Given the description of an element on the screen output the (x, y) to click on. 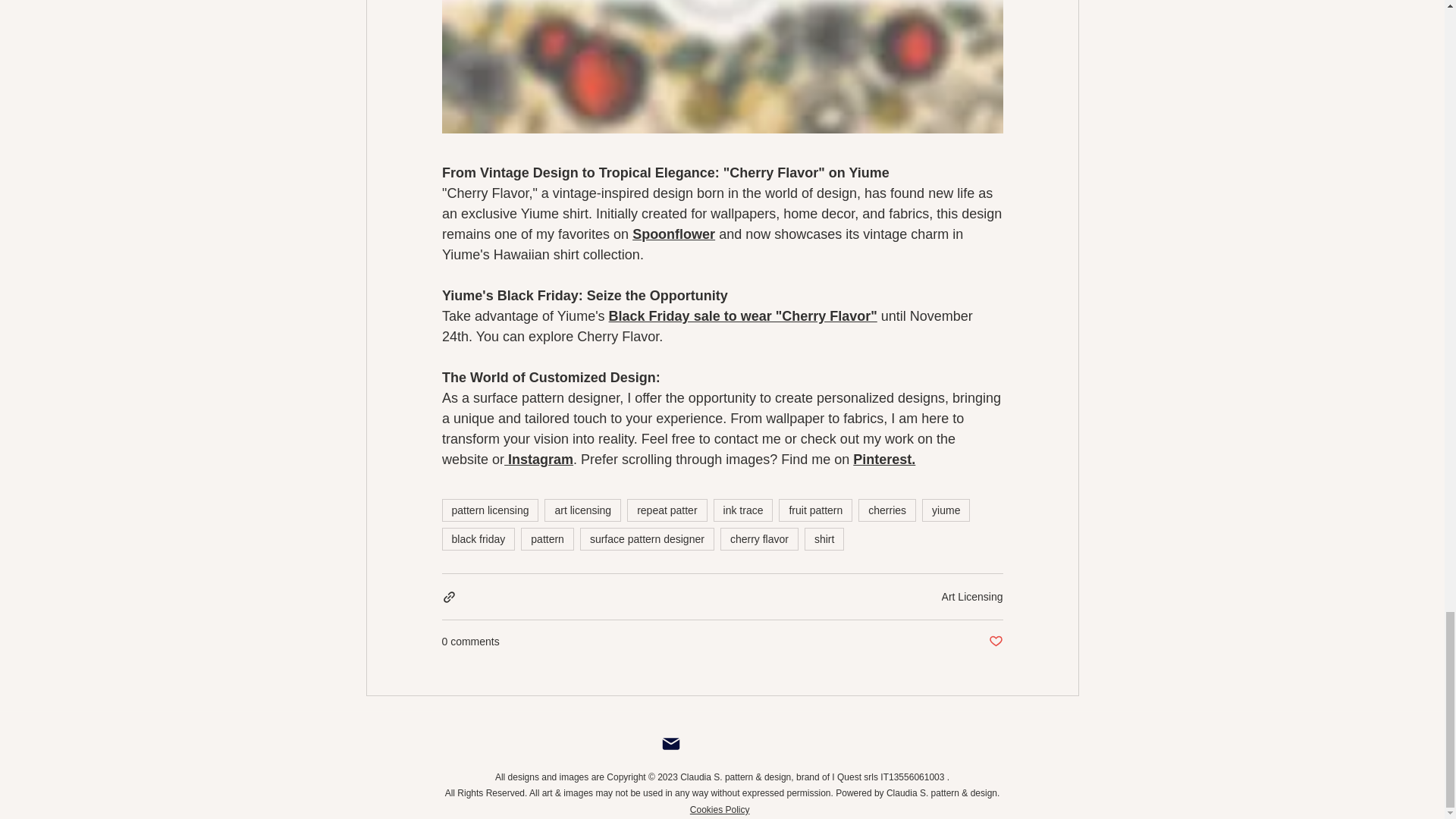
cherries (887, 509)
yiume (945, 509)
Instagram (540, 459)
Black Friday sale to wear "Cherry Flavor" (742, 315)
ink trace (743, 509)
art licensing (582, 509)
Pinterest. (884, 459)
pattern licensing (489, 509)
cherry flavor (758, 538)
black friday (478, 538)
pattern (547, 538)
fruit pattern (814, 509)
surface pattern designer (646, 538)
shirt (824, 538)
Spoonflower (672, 233)
